Given the description of an element on the screen output the (x, y) to click on. 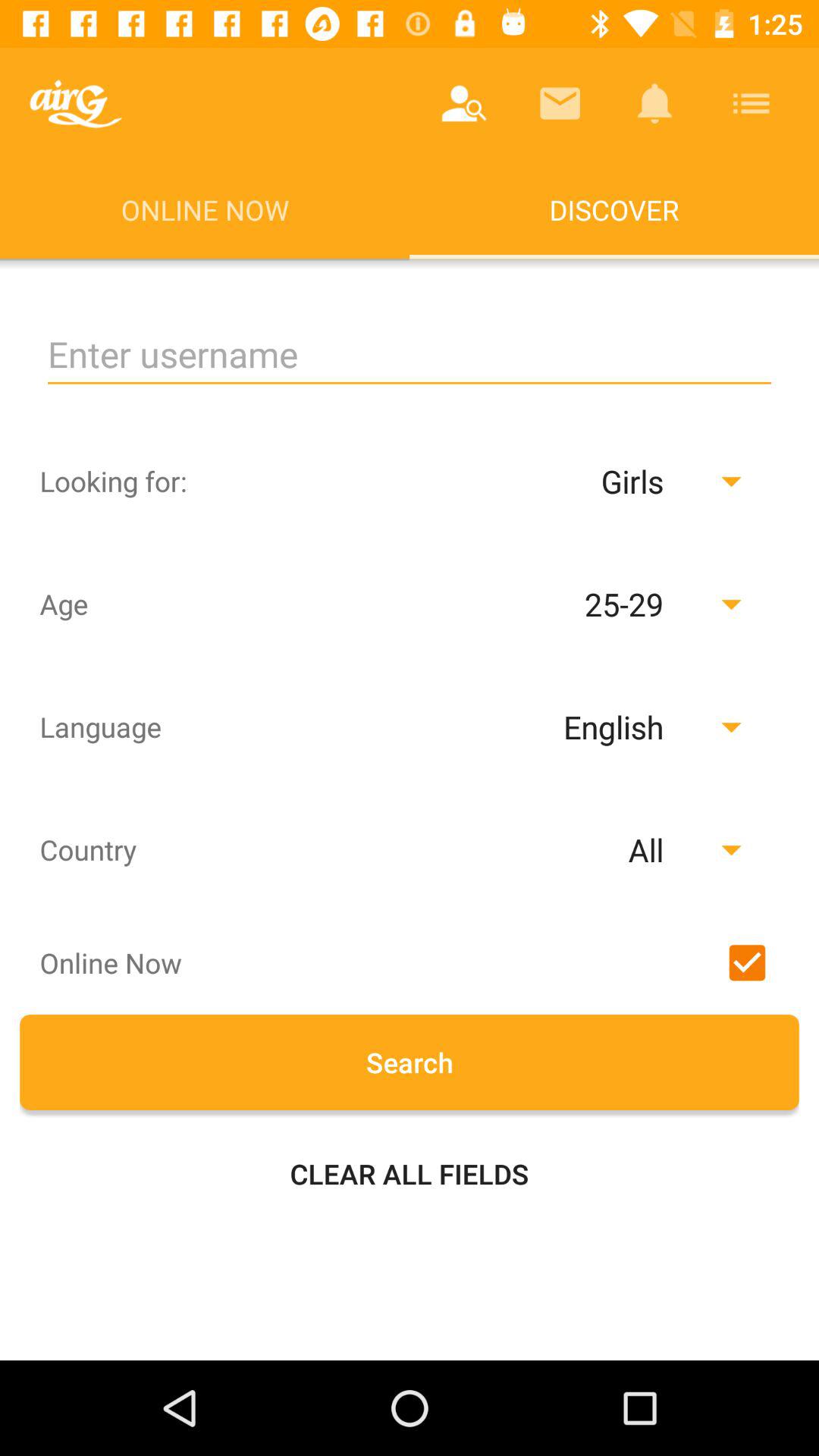
open icon above the girls (409, 354)
